Given the description of an element on the screen output the (x, y) to click on. 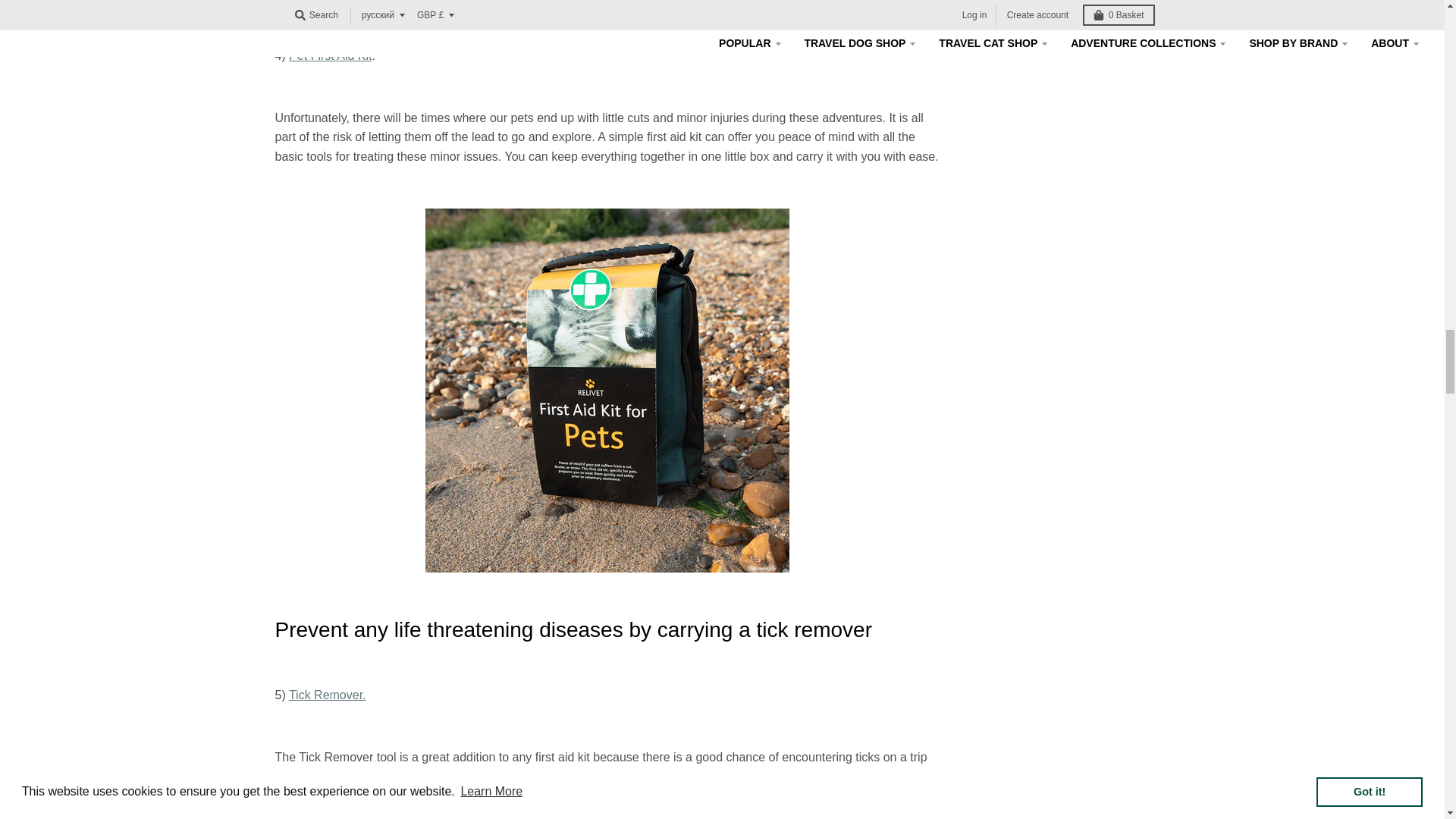
pet first aid kit (329, 55)
